Given the description of an element on the screen output the (x, y) to click on. 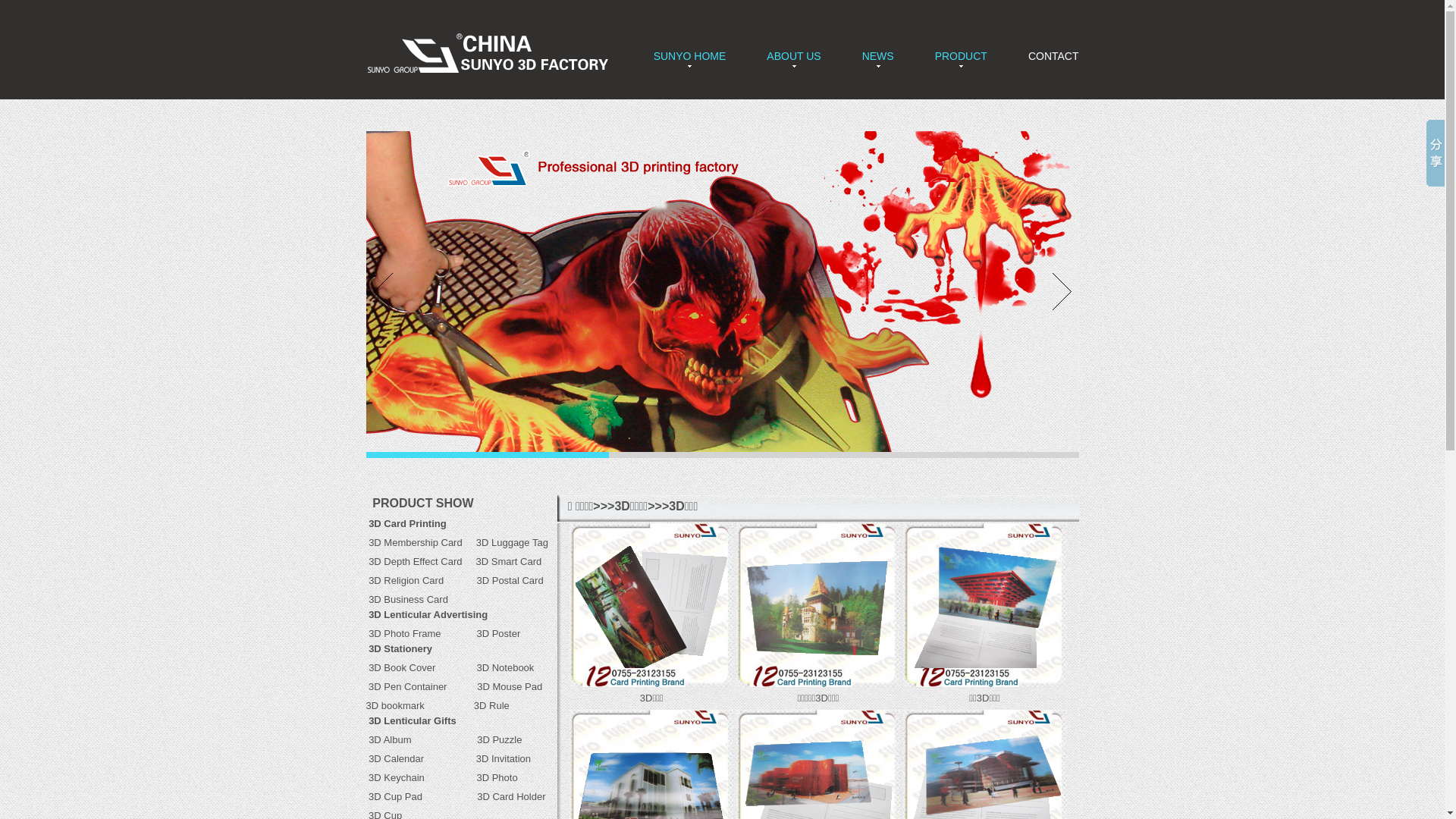
3D Religion Card Element type: text (405, 580)
 3D Cup Pad Element type: text (393, 796)
3D Lenticular Advertising Element type: text (427, 614)
              3D Card Holder Element type: text (492, 796)
ABOUT US Element type: text (793, 56)
3D Luggage Tag Element type: text (512, 542)
 3D Rule Element type: text (489, 705)
3D Calendar Element type: text (395, 758)
3D Membership Card Element type: text (415, 542)
Keychain Element type: text (402, 777)
3D Poster Element type: text (498, 633)
 3D Pen Container Element type: text (405, 686)
              3D Photo Element type: text (477, 777)
3D Book Cover Element type: text (401, 667)
CONTACT Element type: text (1053, 56)
3D Puzzle  Element type: text (500, 739)
PRODUCT Element type: text (961, 56)
3D Notebook Element type: text (504, 667)
3D Business Card Element type: text (408, 599)
3D Stationery Element type: text (400, 648)
SUNYO HOME Element type: text (689, 56)
              3D Invitation Element type: text (483, 758)
3D Mouse Pad Element type: text (509, 686)
 3D Element type: text (372, 777)
3D bookmark Element type: text (394, 705)
  Element type: text (366, 580)
3D Photo Frame              Element type: text (422, 633)
  Element type: text (366, 599)
3D Depth Effect Card Element type: text (414, 561)
NEWS Element type: text (878, 56)
3D Card Printing Element type: text (407, 523)
3D Lenticular Gifts Element type: text (412, 720)
          3D Postal Card Element type: text (495, 580)
3D Smart Card Element type: text (509, 561)
3D Album Element type: text (389, 739)
